Given the description of an element on the screen output the (x, y) to click on. 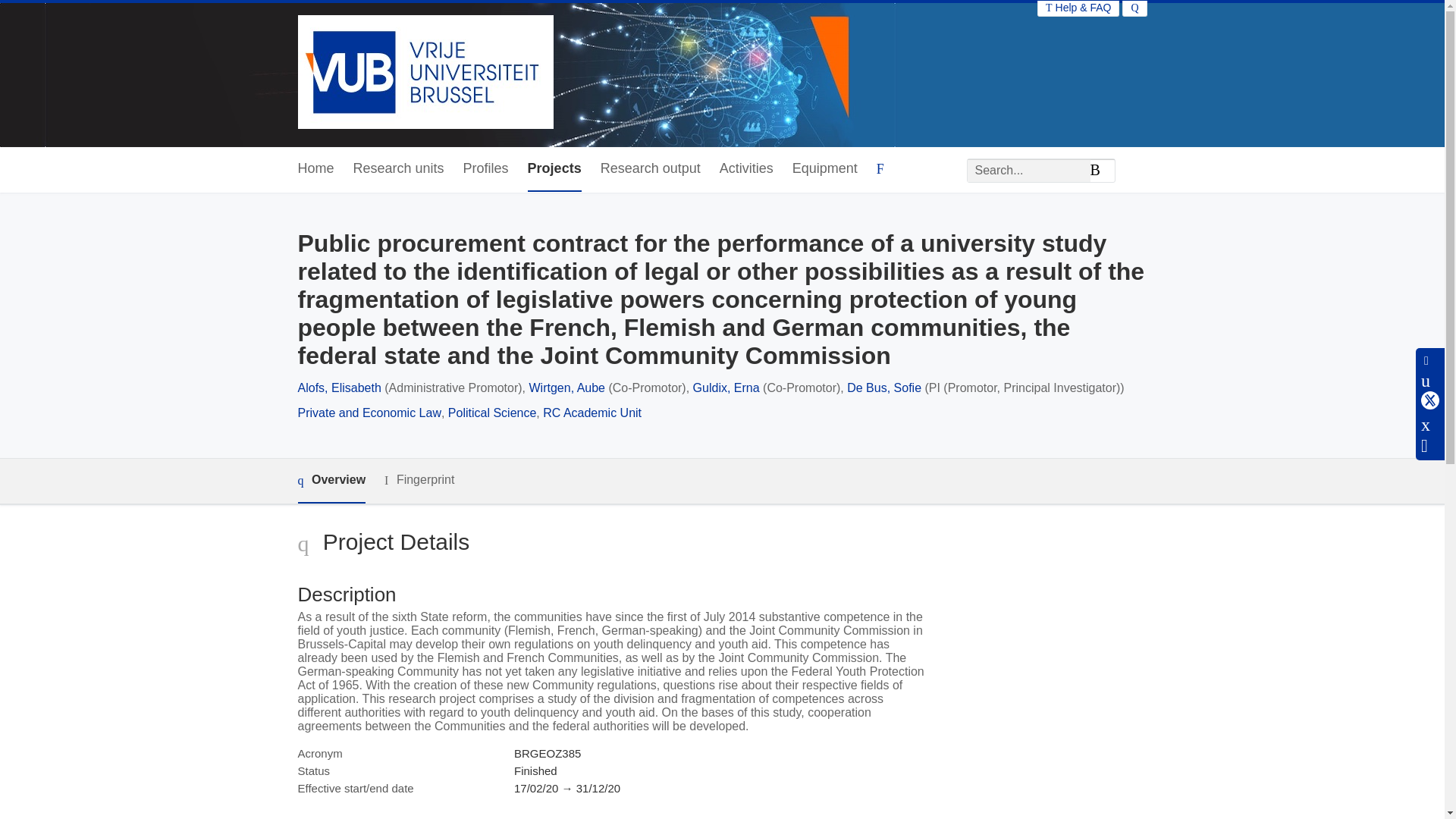
Guldix, Erna (726, 387)
Activities (746, 169)
RC Academic Unit (592, 412)
Wirtgen, Aube (567, 387)
De Bus, Sofie (884, 387)
Alofs, Elisabeth (338, 387)
Vrije Universiteit Brussel Home (425, 73)
Political Science (492, 412)
Projects (553, 169)
Research units (398, 169)
